Given the description of an element on the screen output the (x, y) to click on. 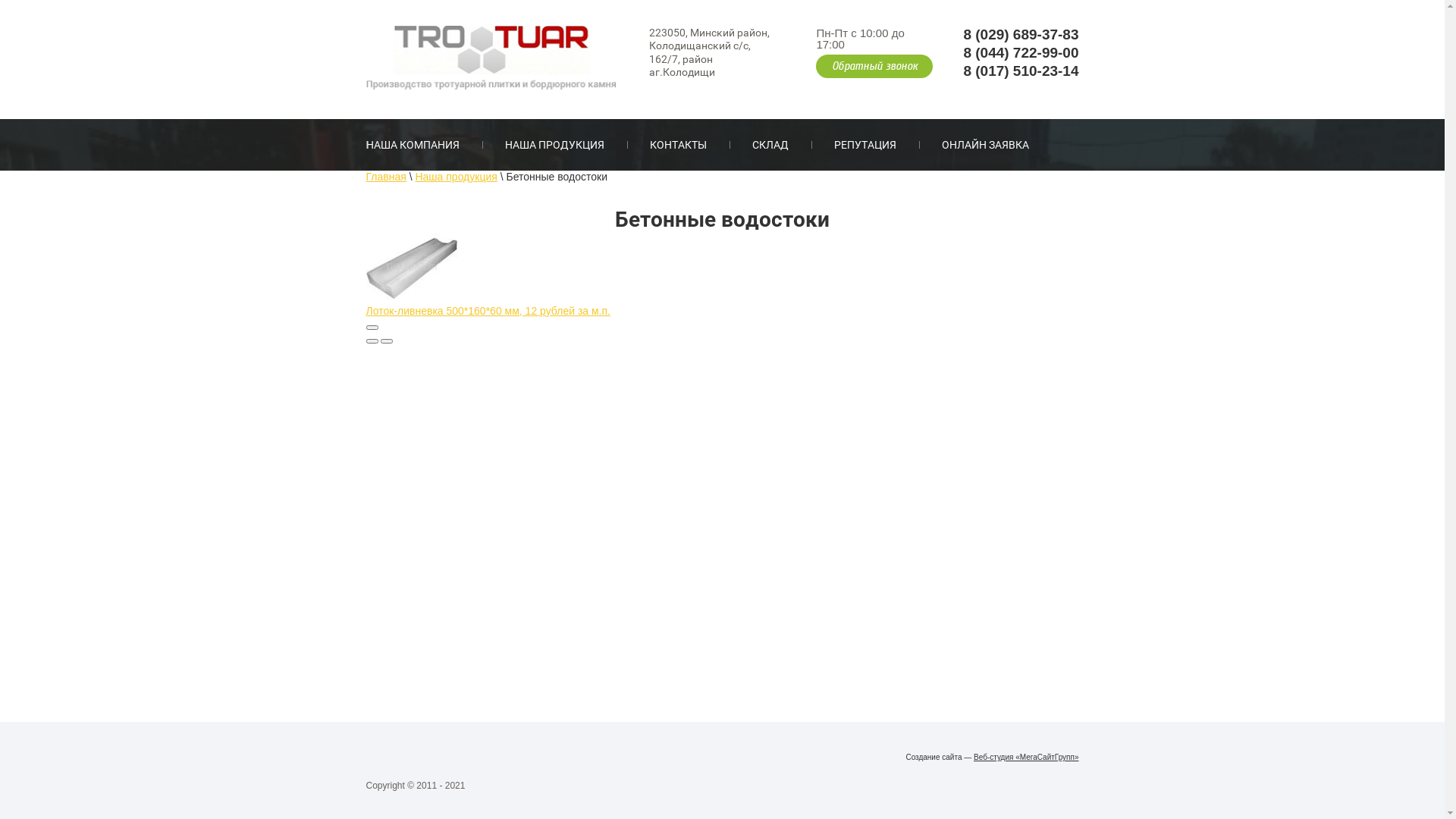
8 (029) 689-37-83 Element type: text (1020, 34)
8 (044) 722-99-00 Element type: text (1020, 52)
8 (017) 510-23-14 Element type: text (1020, 70)
